Given the description of an element on the screen output the (x, y) to click on. 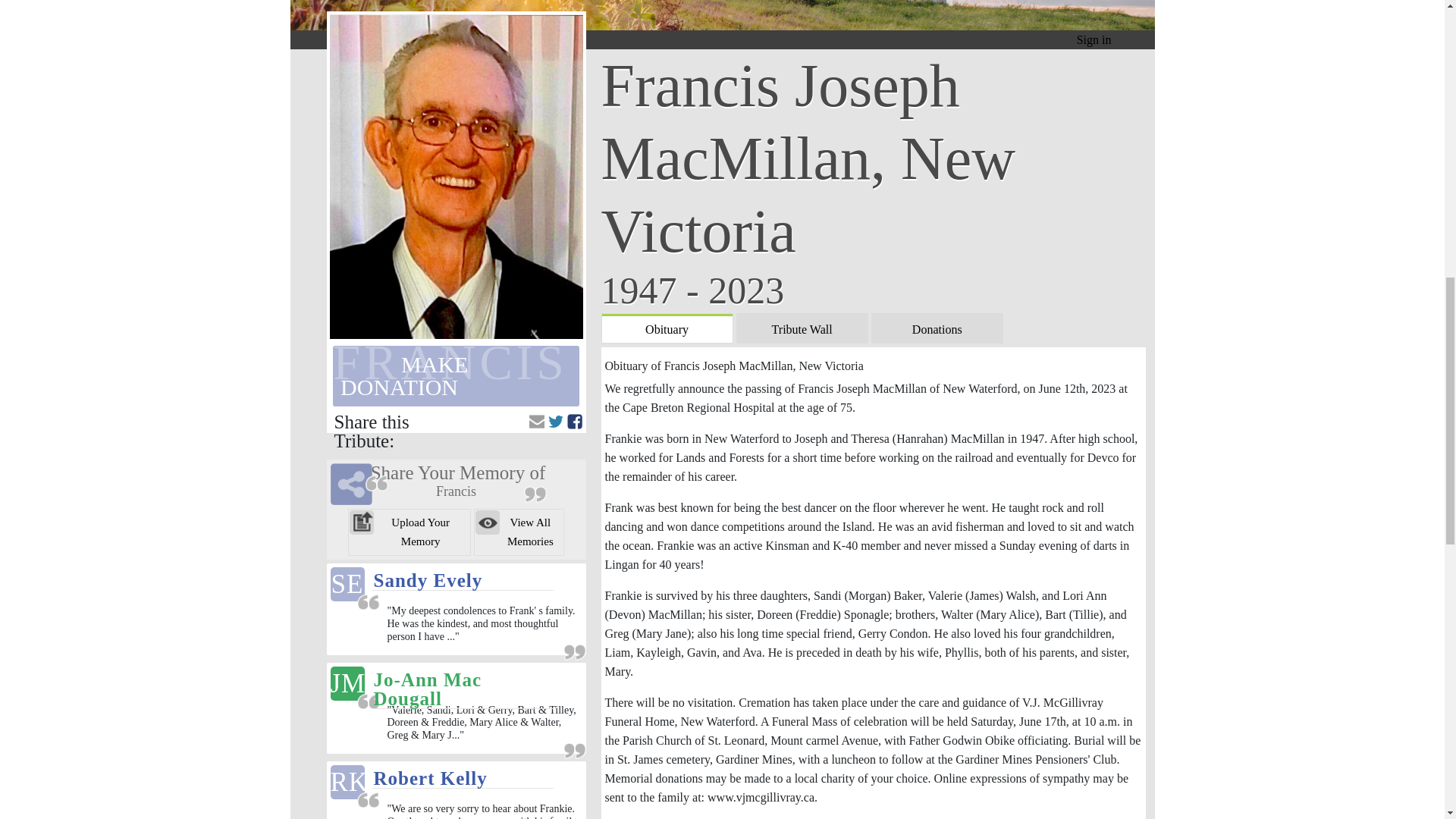
Sign in (1094, 39)
Upload Your Memory (408, 532)
View All Memories (518, 532)
Obituary (667, 328)
Twitter (555, 421)
MAKE DONATION (456, 375)
Facebook (574, 421)
Tribute Wall (801, 328)
Receive Notifications (536, 421)
